Given the description of an element on the screen output the (x, y) to click on. 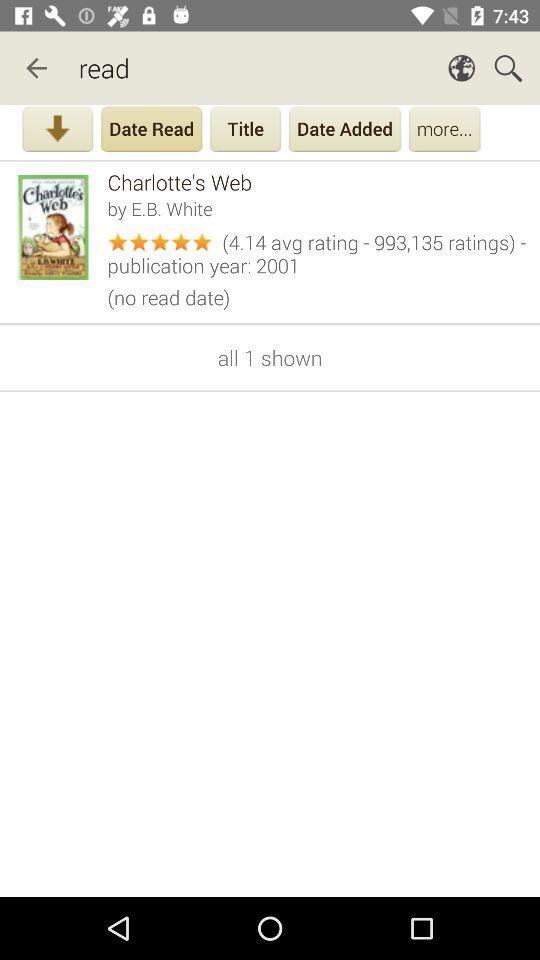
click item to the left of more... icon (345, 131)
